Given the description of an element on the screen output the (x, y) to click on. 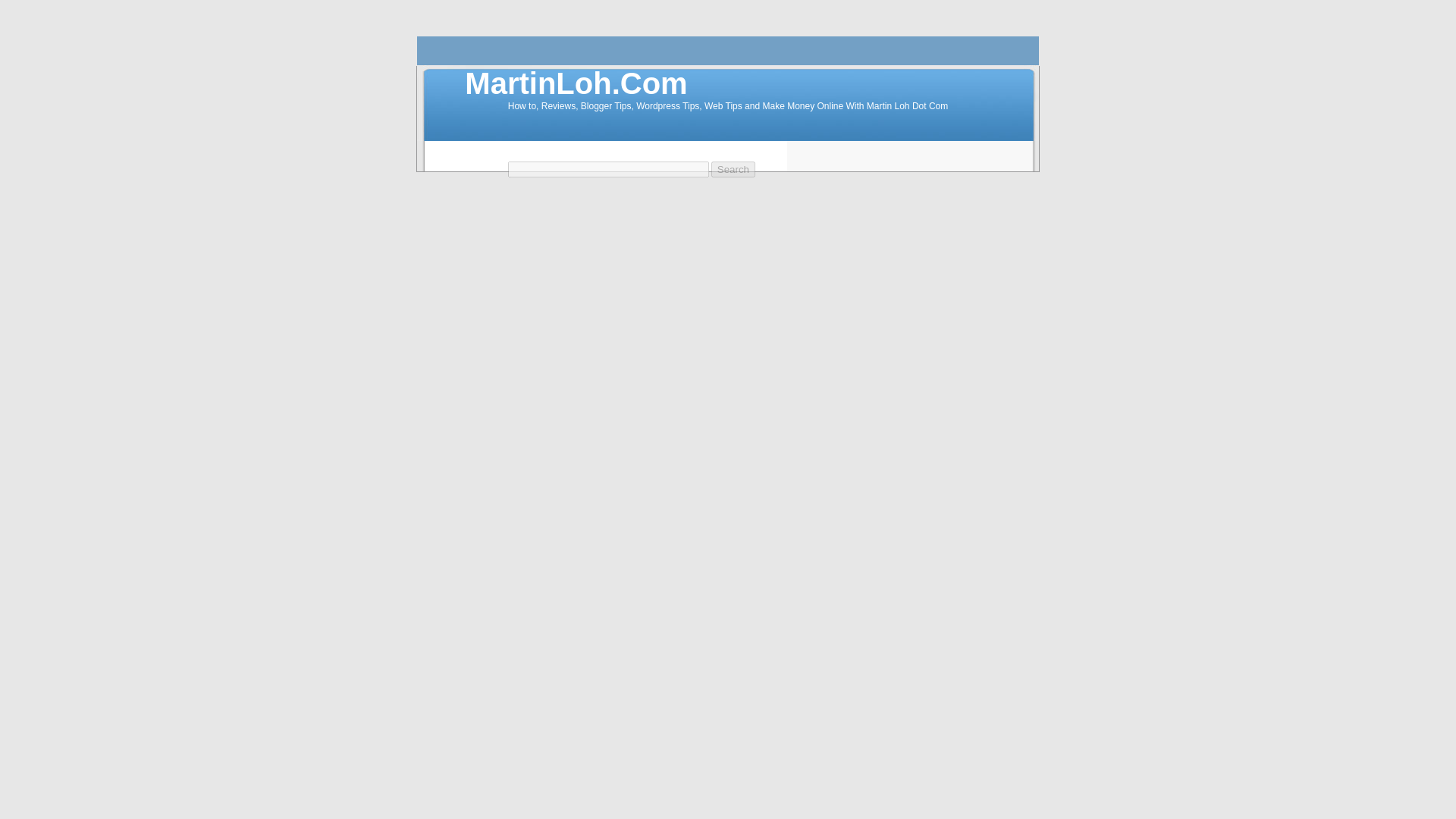
MartinLoh.Com (575, 82)
Search (733, 169)
Search (733, 169)
